Given the description of an element on the screen output the (x, y) to click on. 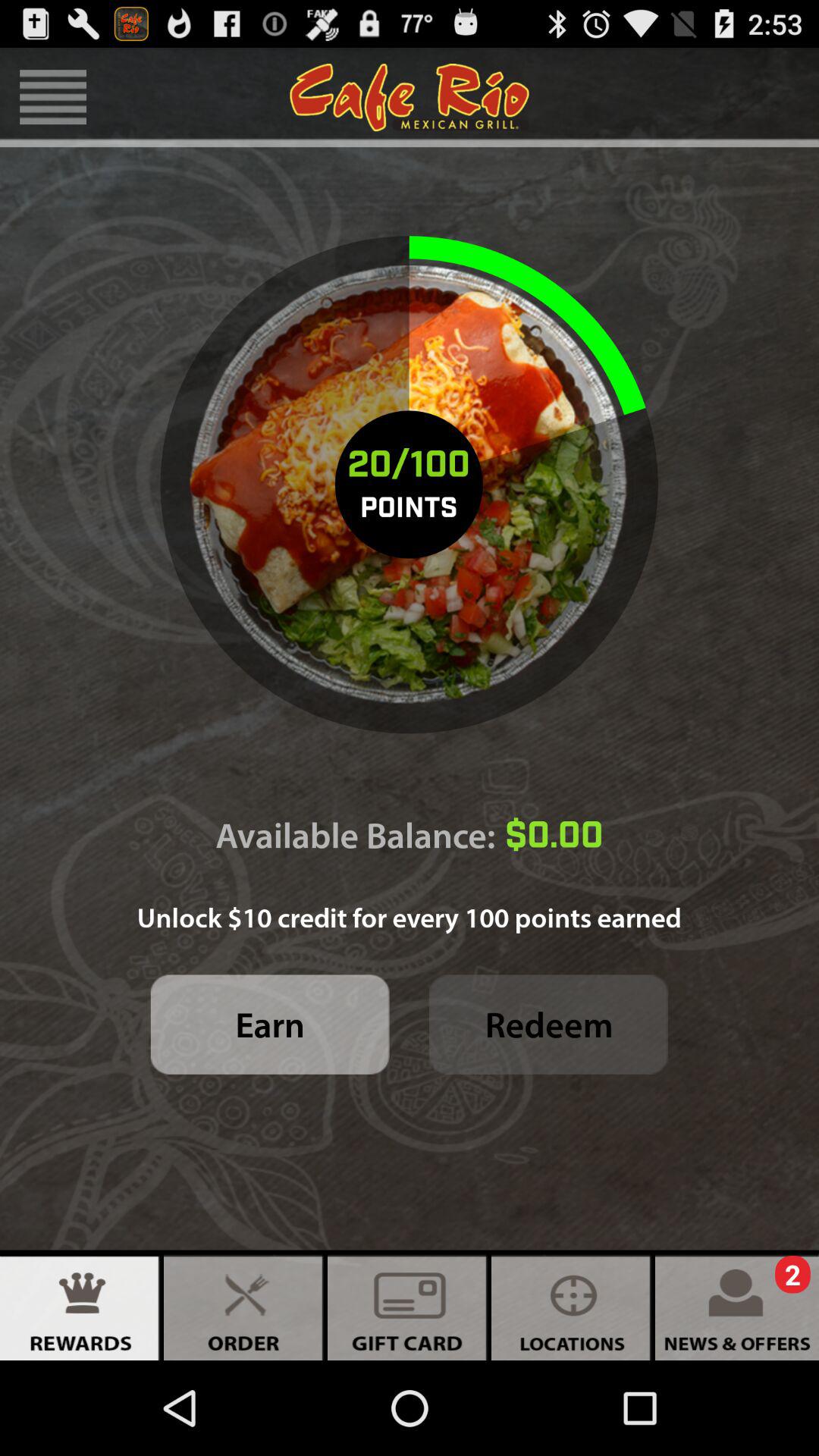
turn on the icon below unlock 10 credit (269, 1024)
